Given the description of an element on the screen output the (x, y) to click on. 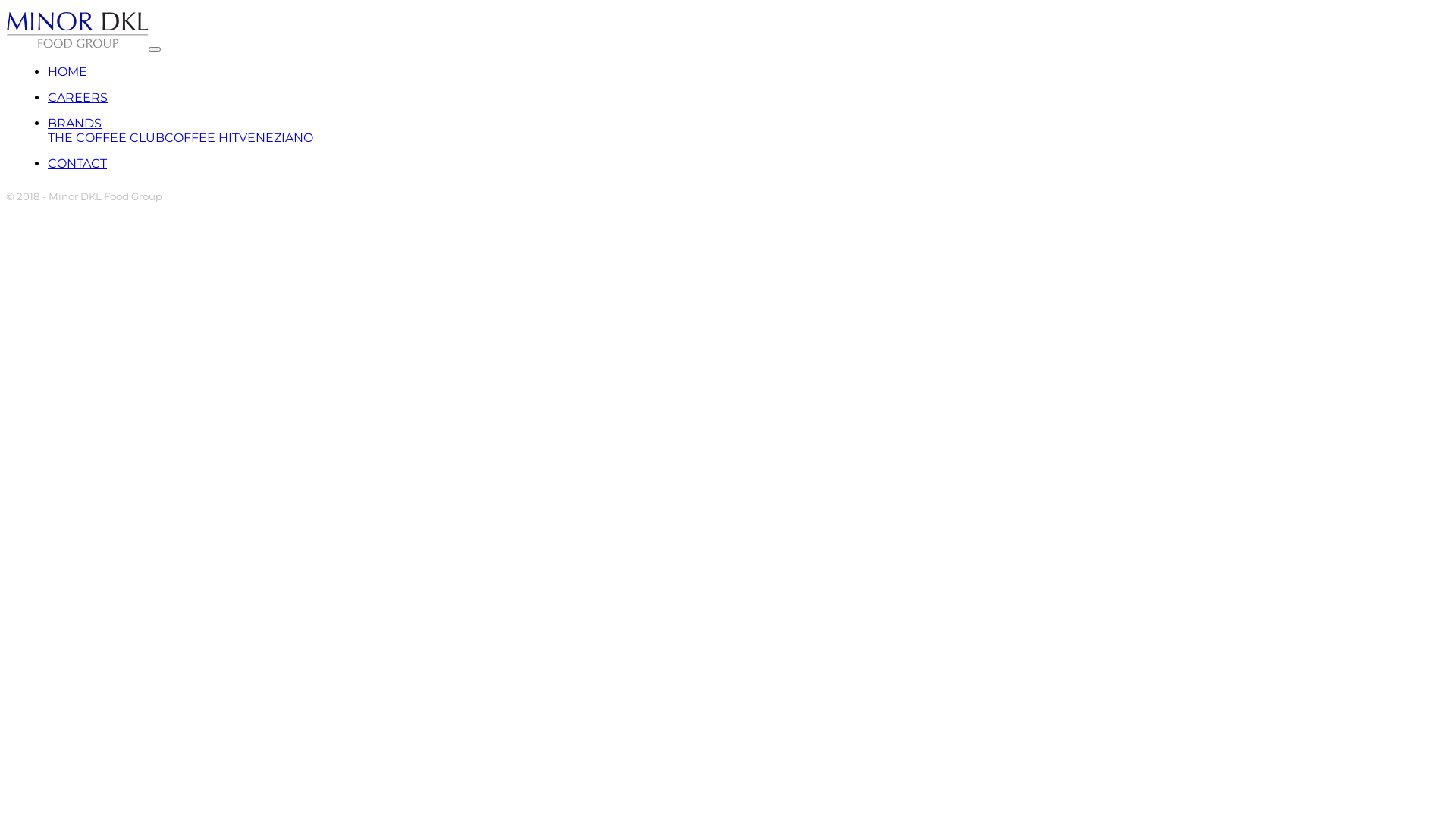
THE COFFEE CLUB Element type: text (105, 137)
HOME Element type: text (67, 71)
CONTACT Element type: text (76, 163)
CAREERS Element type: text (77, 97)
COFFEE HIT Element type: text (201, 137)
BRANDS Element type: text (74, 123)
VENEZIANO Element type: text (275, 137)
